Given the description of an element on the screen output the (x, y) to click on. 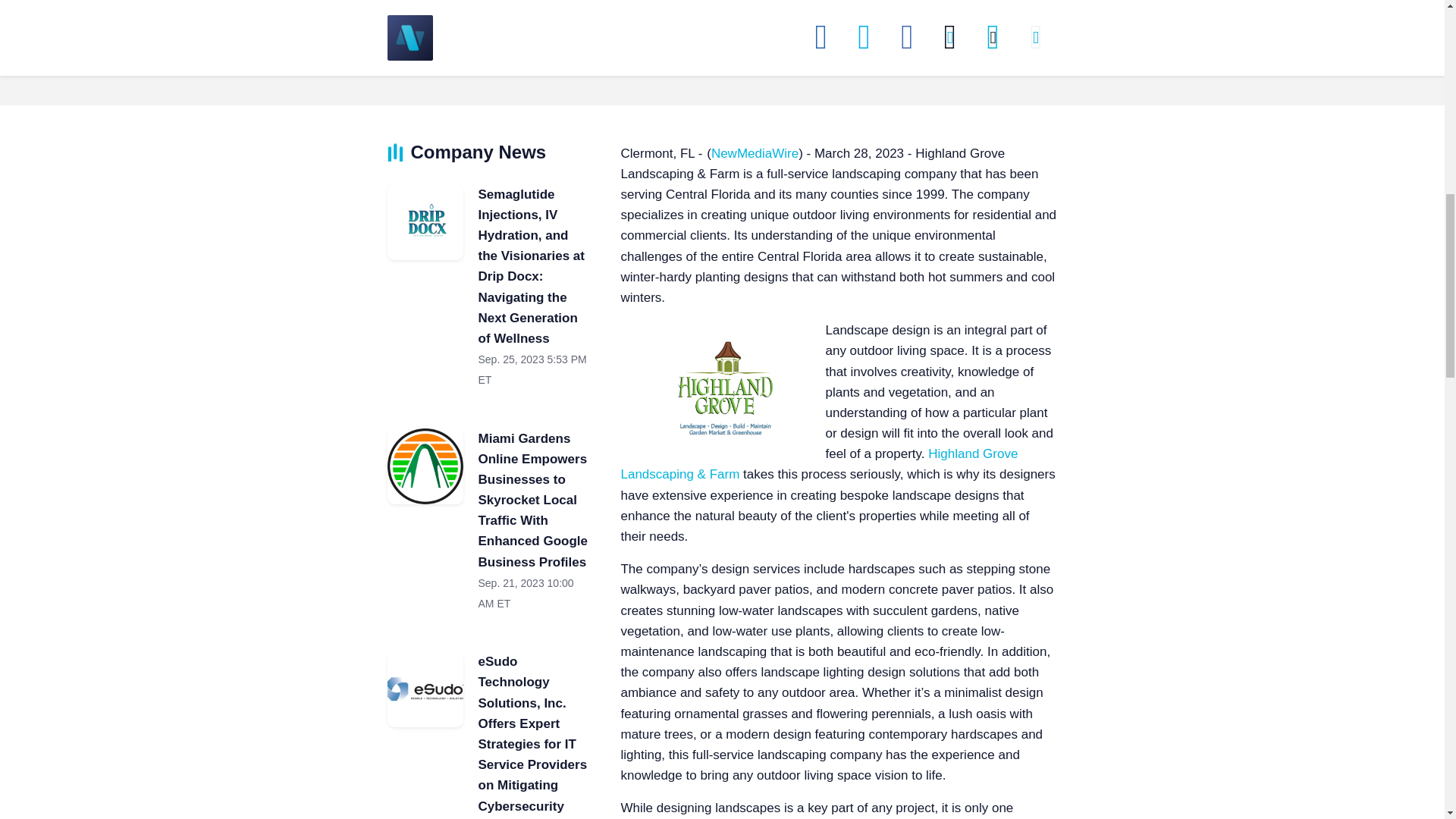
NewMediaWire (754, 153)
